Given the description of an element on the screen output the (x, y) to click on. 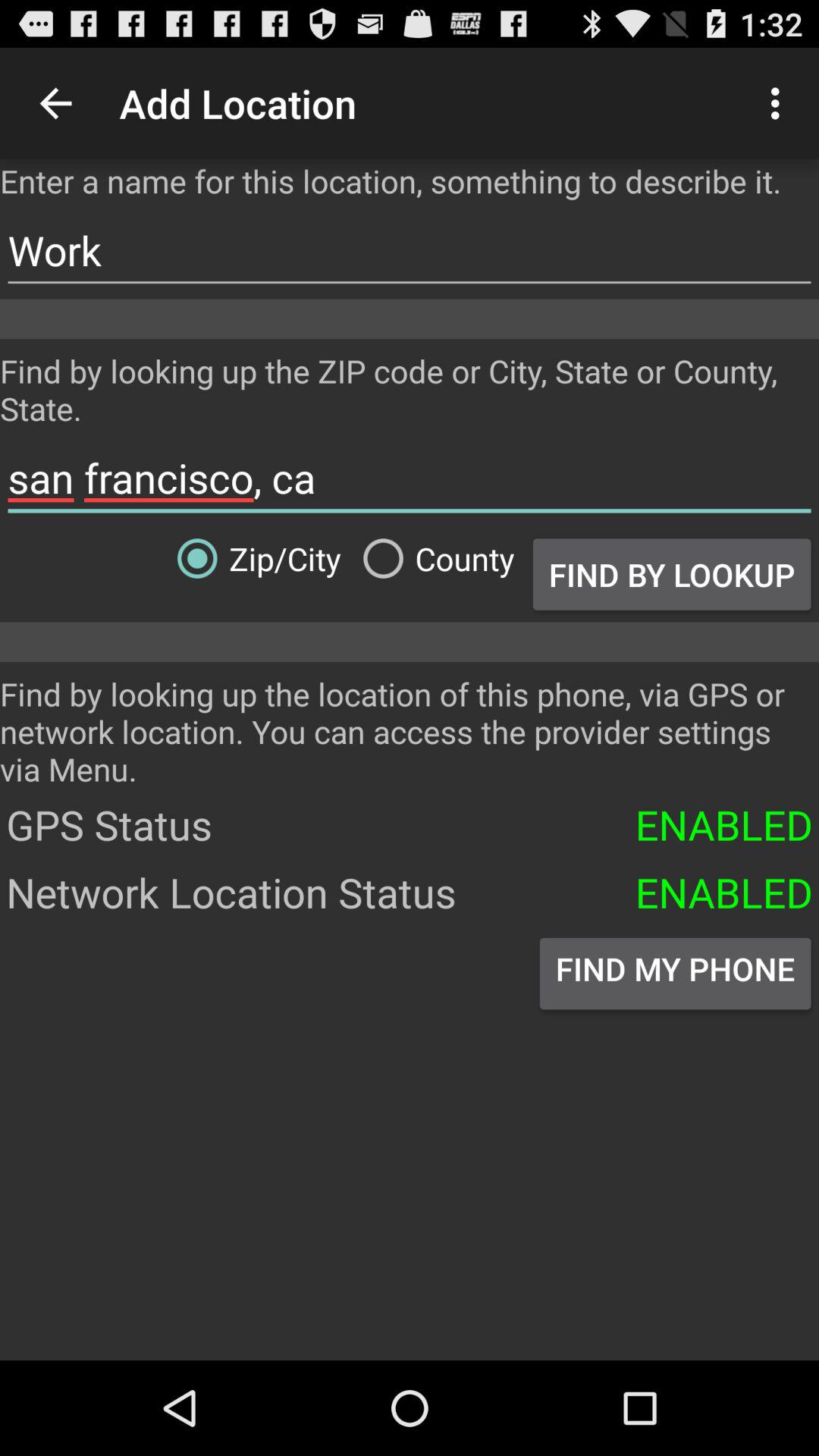
press the icon to the left of add location item (55, 103)
